Given the description of an element on the screen output the (x, y) to click on. 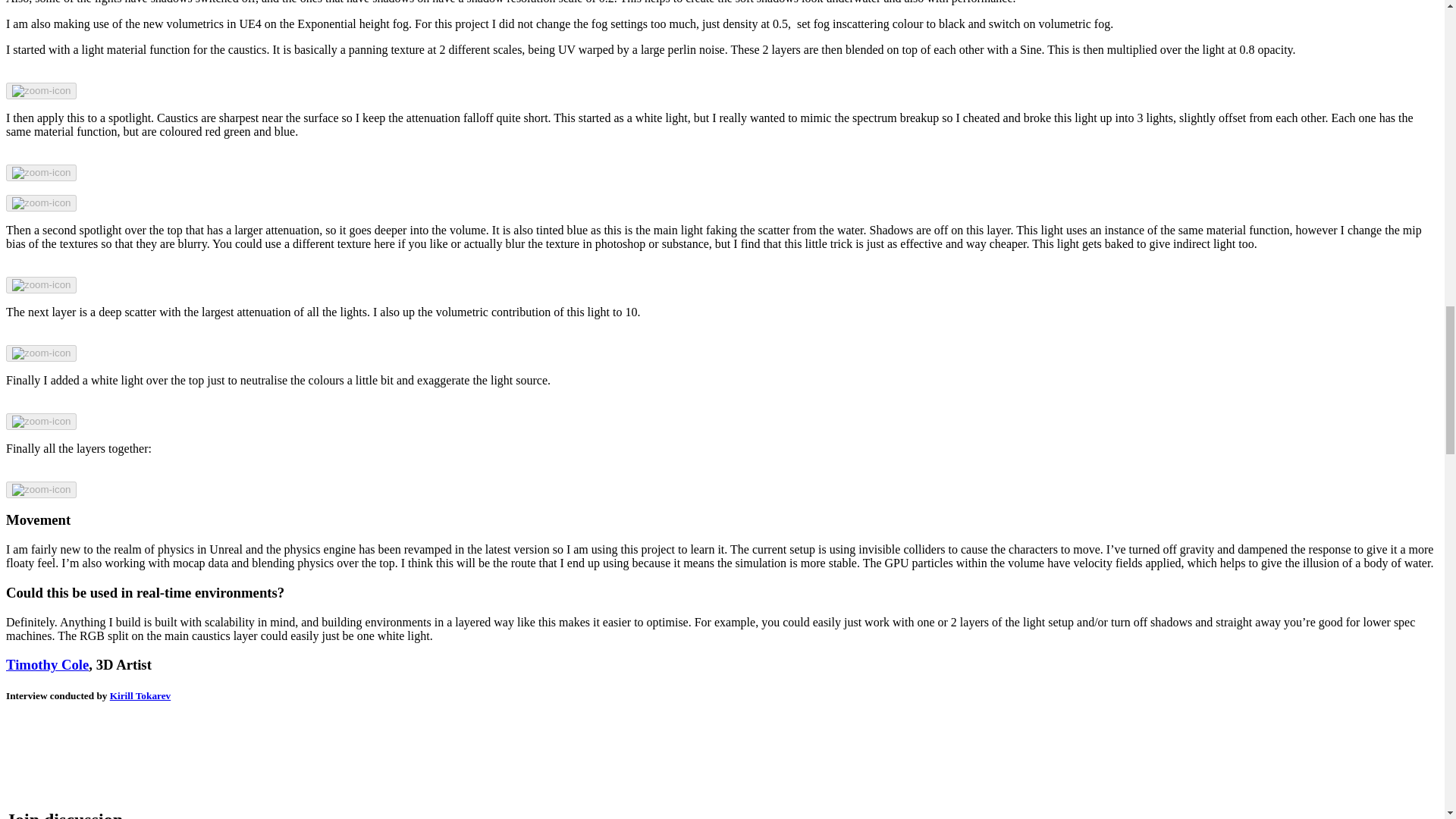
Timothy Cole (46, 664)
Kirill Tokarev (140, 695)
